Given the description of an element on the screen output the (x, y) to click on. 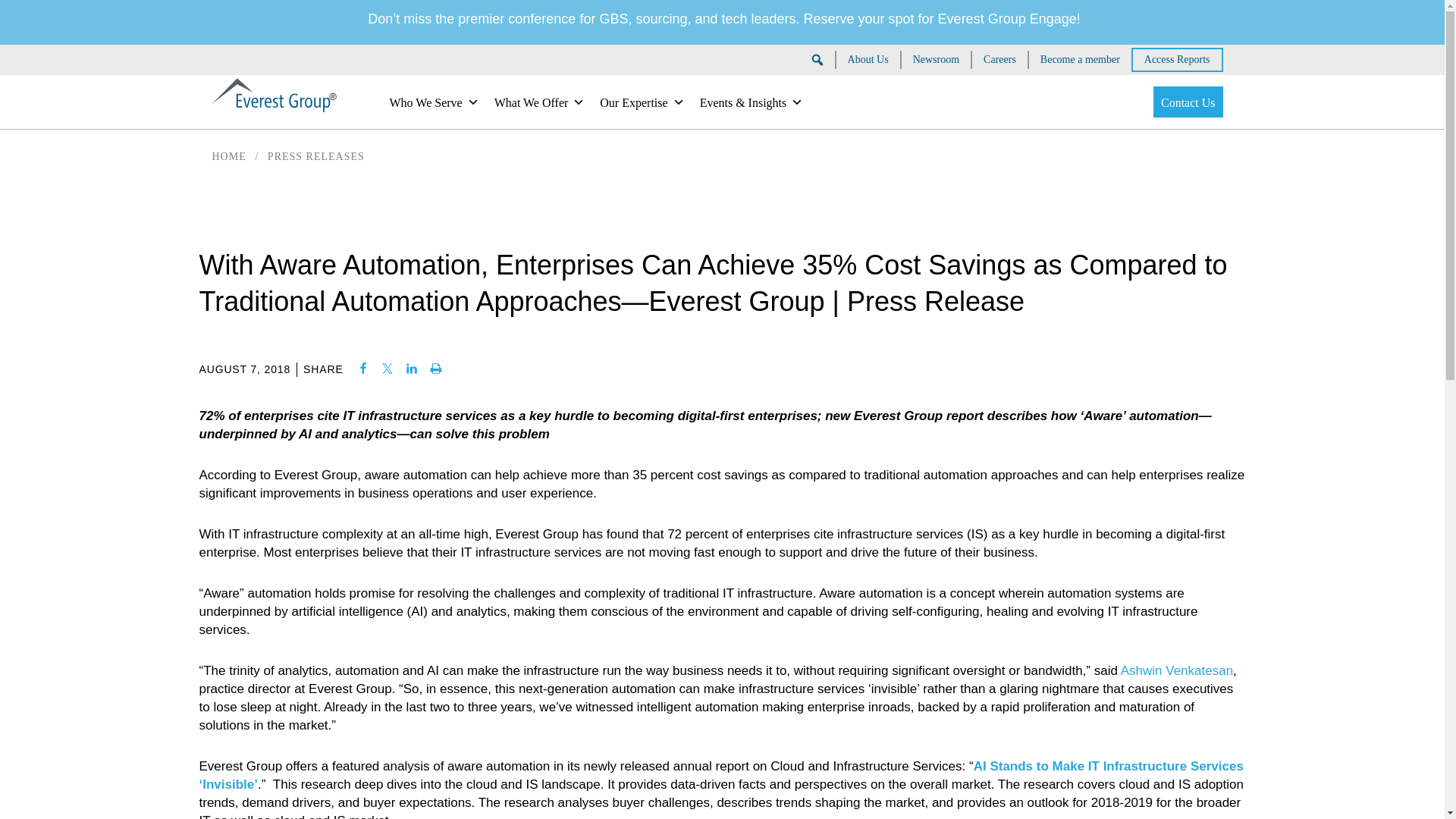
What We Offer (539, 101)
Search (25, 11)
Access Reports (1177, 59)
Who We Serve (433, 101)
Newsroom (935, 59)
Share on LinkedIn (410, 368)
Share on Facebook (362, 368)
Share on Twitter (386, 368)
Careers (1000, 59)
Become a member (1080, 59)
